Given the description of an element on the screen output the (x, y) to click on. 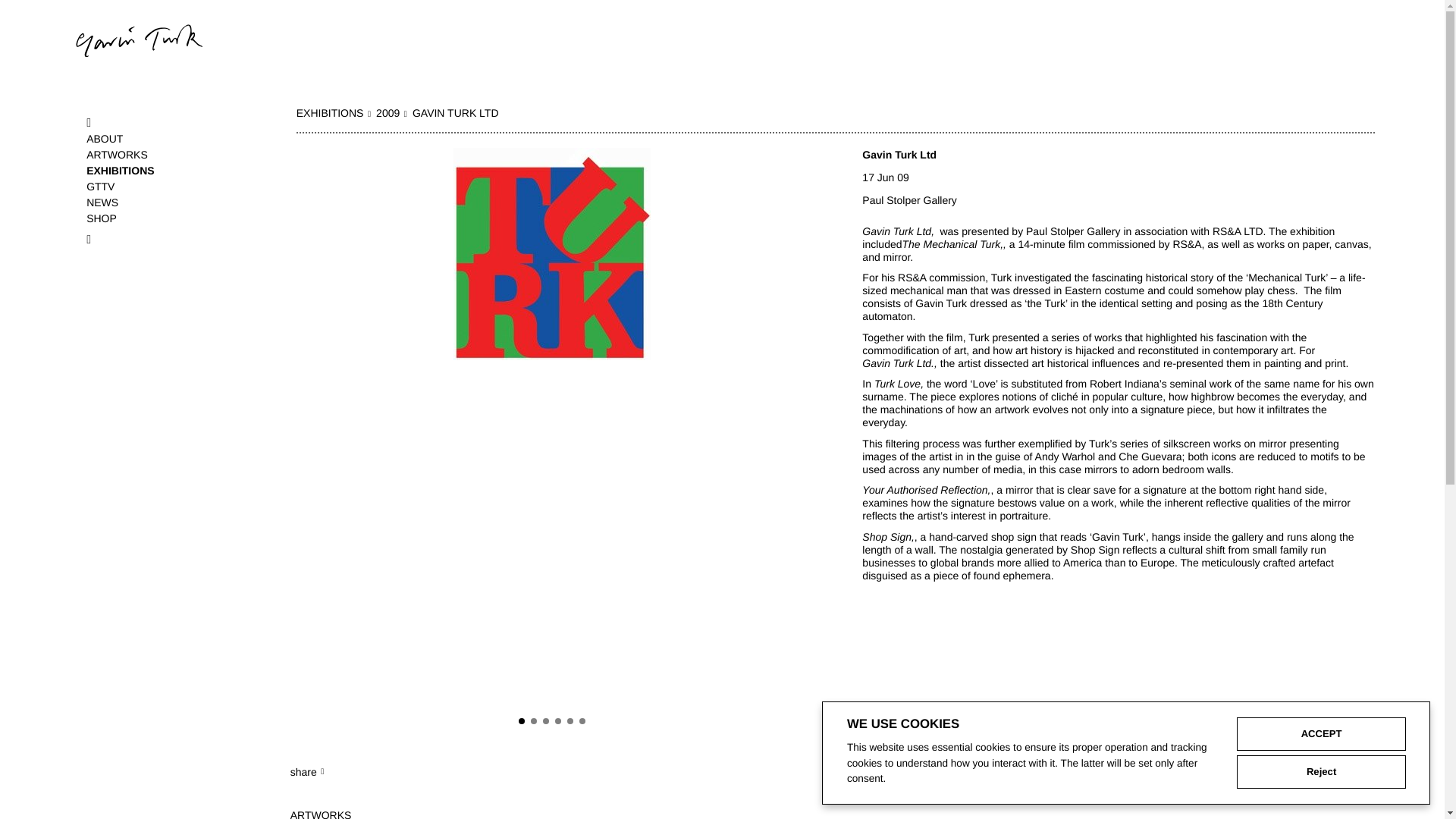
ARTWORKS (166, 154)
ABOUT (166, 139)
SHOP (166, 218)
EXHIBITIONS (166, 170)
NEWS (166, 202)
2009 (391, 113)
GTTV (166, 186)
EXHIBITIONS (334, 113)
